Given the description of an element on the screen output the (x, y) to click on. 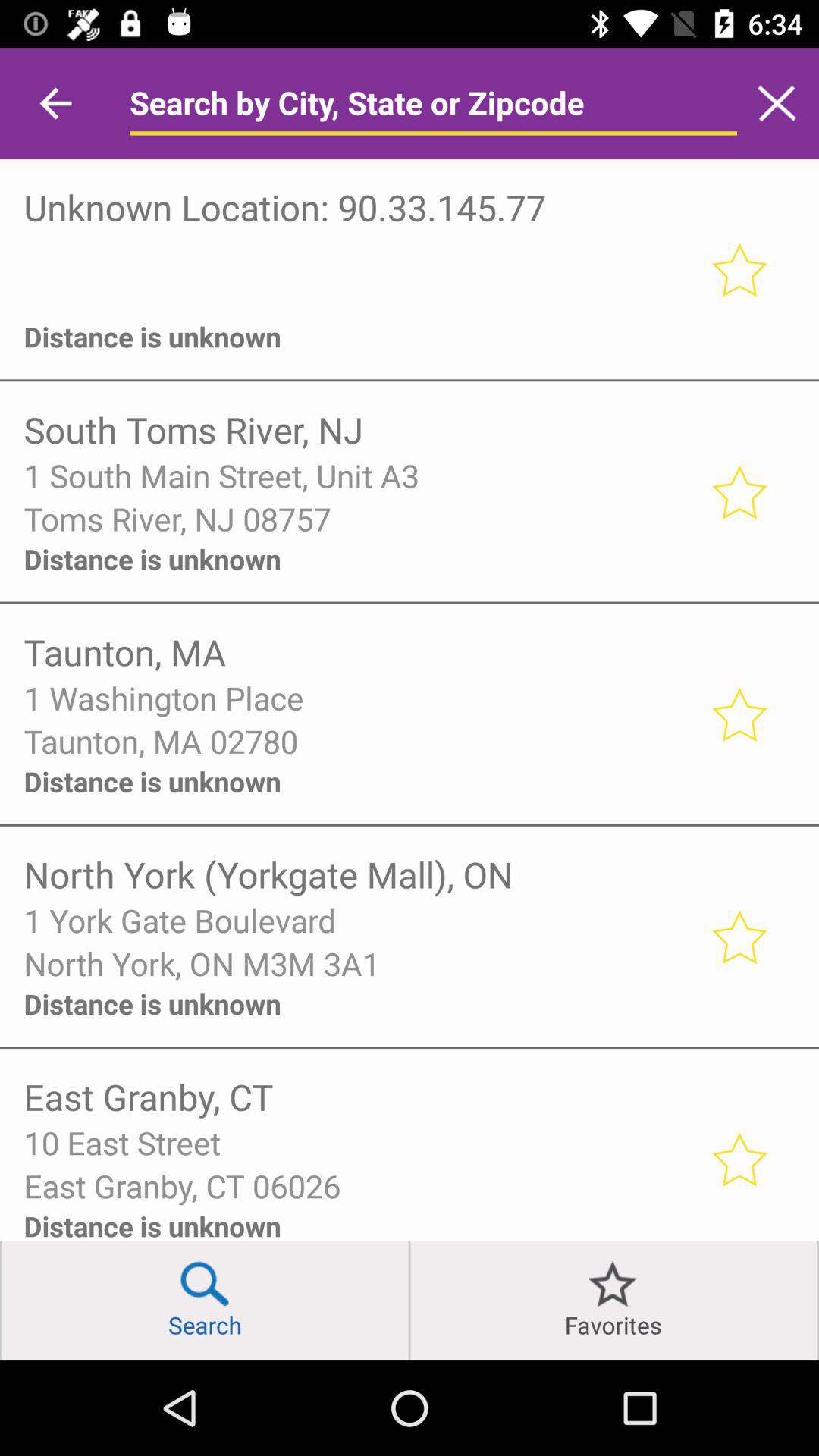
select icon above the east granby ct item (356, 1142)
